Given the description of an element on the screen output the (x, y) to click on. 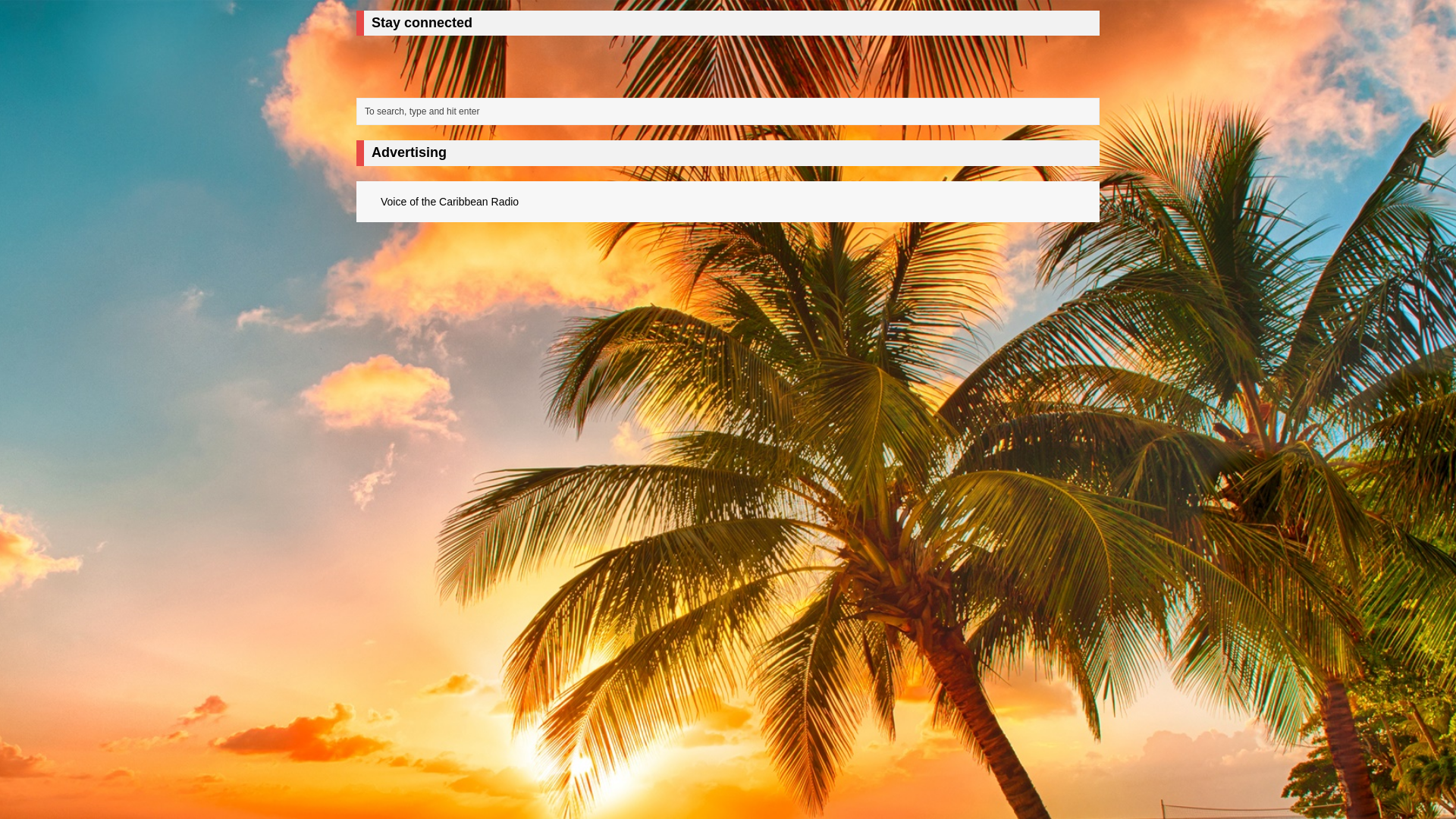
To search, type and hit enter (731, 111)
